Given the description of an element on the screen output the (x, y) to click on. 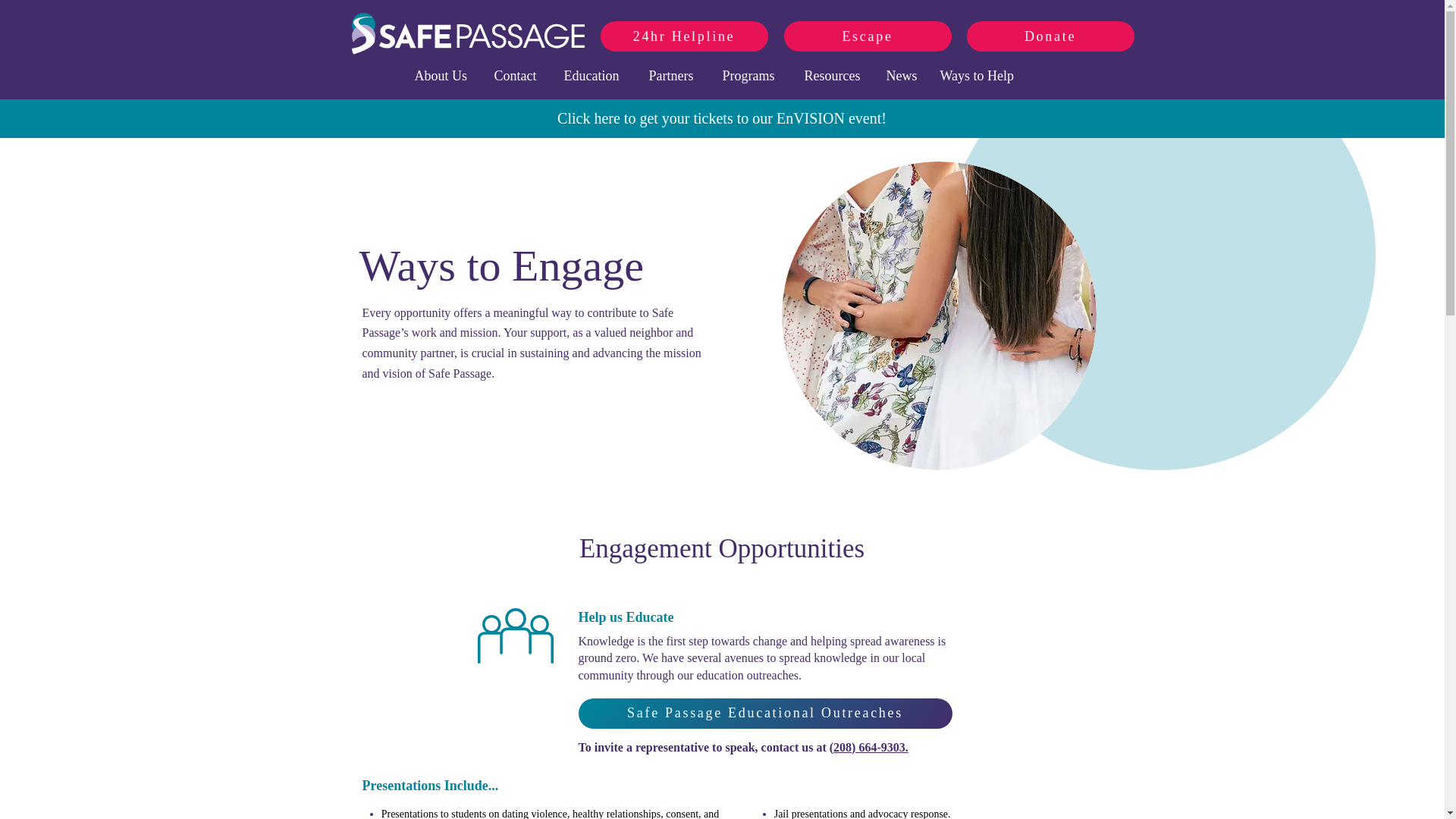
Donate (1050, 36)
Escape (868, 36)
Resources (836, 73)
safe-passage-press.jpg (938, 315)
Click here to get your tickets to our EnVISION event! (721, 117)
Partners (678, 73)
Contact (521, 73)
Education (599, 73)
24hr Helpline (683, 36)
Safe Passage Educational Outreaches (765, 713)
